Given the description of an element on the screen output the (x, y) to click on. 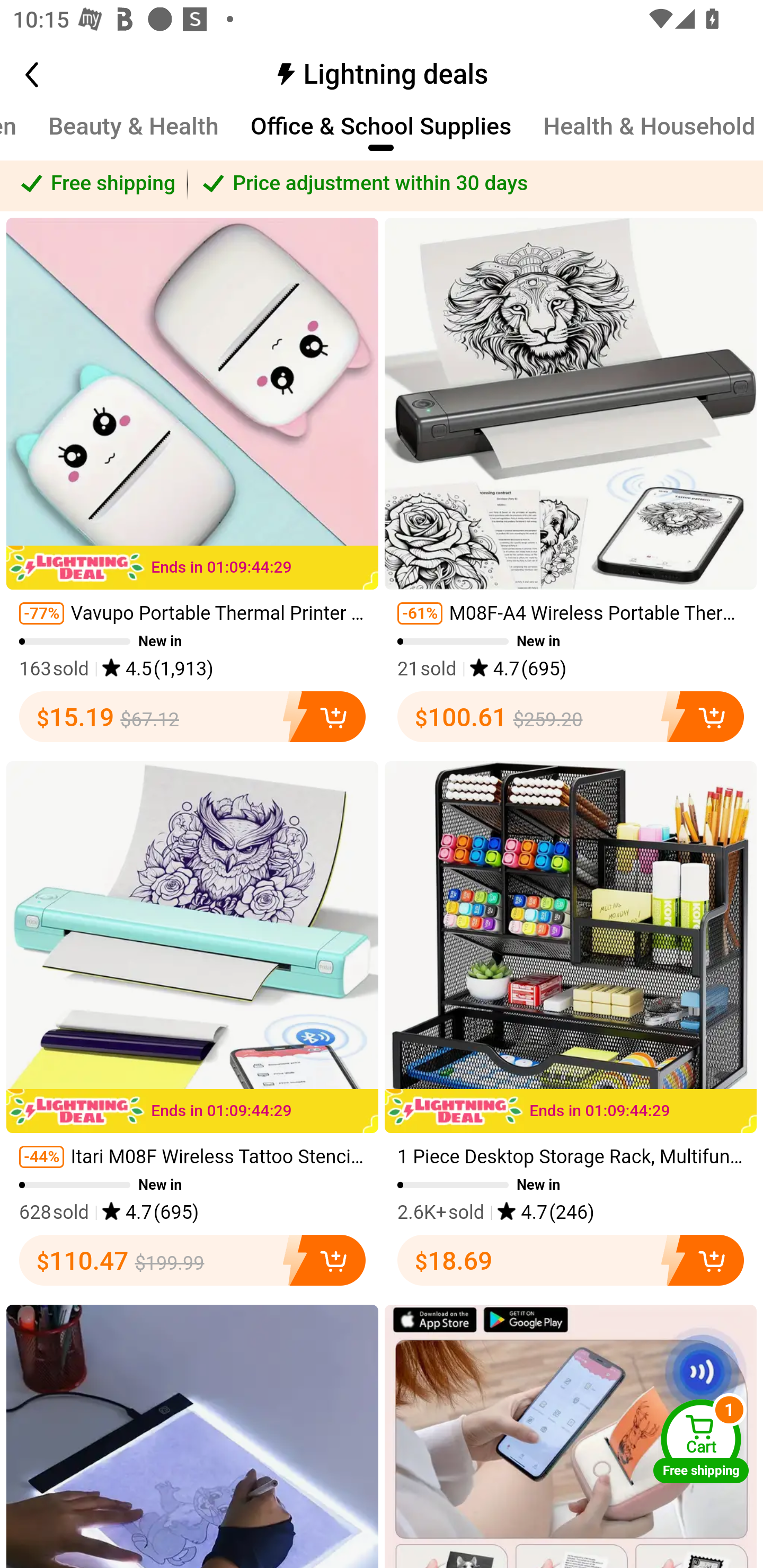
Back (50, 75)
Beauty & Health (133, 136)
Office & School Supplies (380, 136)
Health & Household (648, 136)
Free shipping (94, 184)
Price adjustment within 30 days (475, 184)
$15.19 $67.12 (192, 718)
$100.61 $259.20 (570, 718)
$110.47 $199.99 (192, 1262)
$18.69 (570, 1262)
Cart Free shipping Cart (701, 1440)
